Given the description of an element on the screen output the (x, y) to click on. 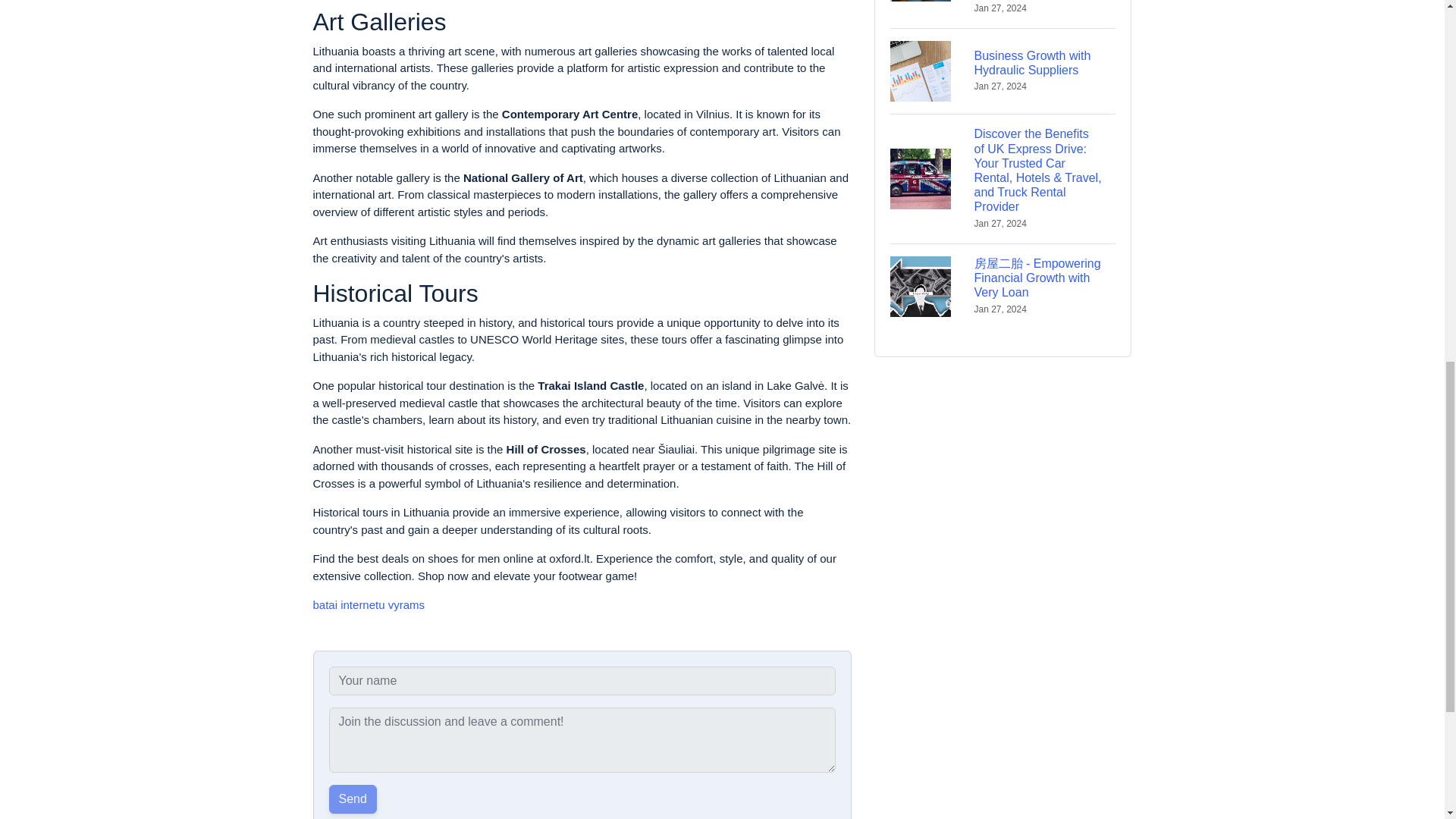
batai internetu vyrams (1002, 70)
Send (369, 604)
Send (353, 799)
